Given the description of an element on the screen output the (x, y) to click on. 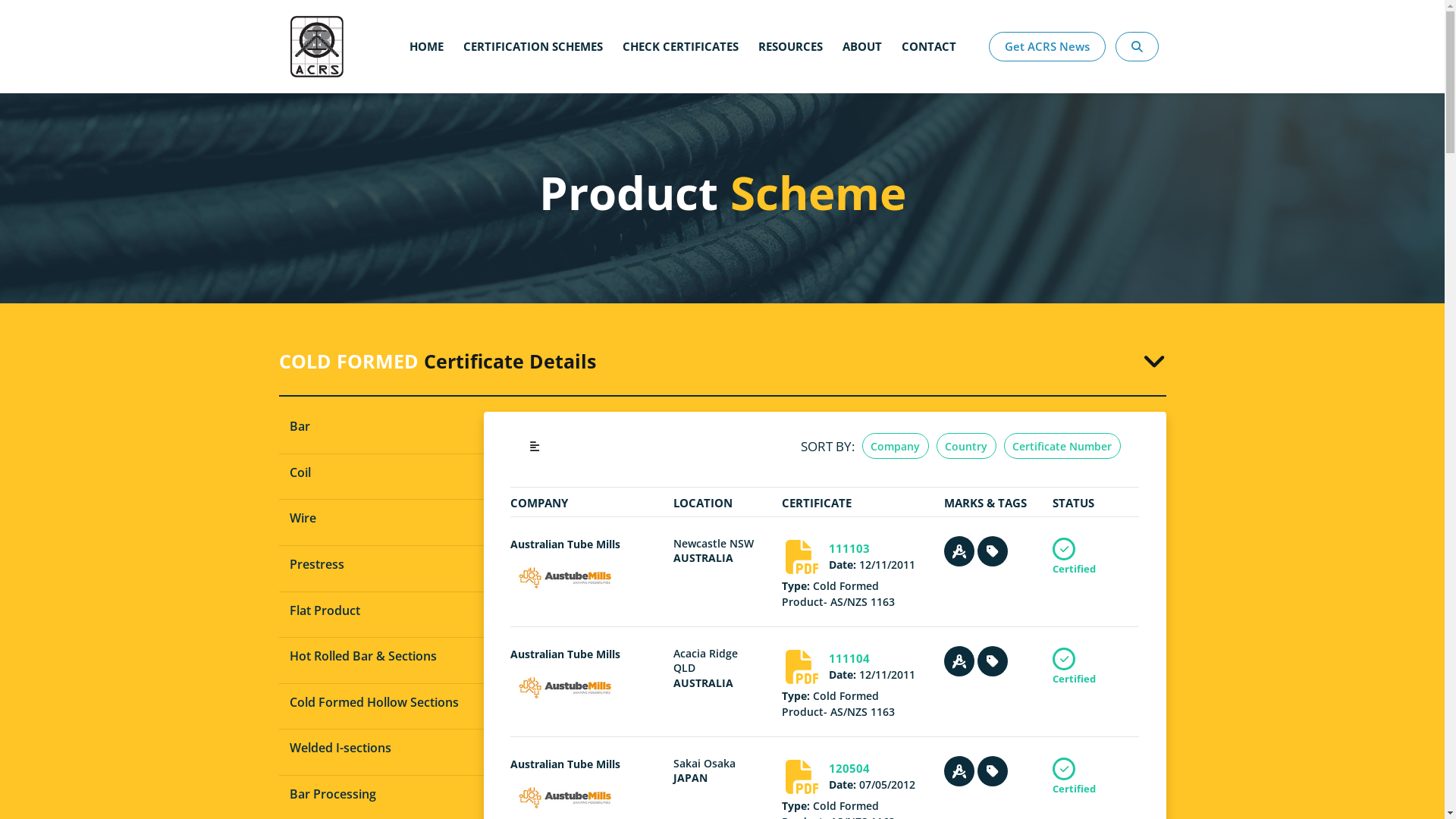
RESOURCES Element type: text (790, 45)
Country Element type: text (966, 445)
CONTACT Element type: text (928, 45)
CHECK CERTIFICATES Element type: text (680, 45)
111104 Element type: text (848, 657)
Coil Element type: text (381, 473)
Bar Processing Element type: text (381, 794)
COLD FORMED Certificate Details Element type: text (722, 360)
CERTIFICATION SCHEMES Element type: text (532, 45)
Company Element type: text (895, 445)
Get ACRS News Element type: text (1046, 46)
Welded I-sections Element type: text (381, 748)
120504 Element type: text (848, 767)
Flat Product Element type: text (381, 611)
111103 Element type: text (848, 547)
Cold Formed Hollow Sections Element type: text (381, 702)
Prestress Element type: text (381, 564)
Wire Element type: text (381, 518)
ABOUT Element type: text (861, 45)
HOME Element type: text (426, 45)
Bar Element type: text (381, 426)
Subscribe Element type: text (1122, 96)
Hot Rolled Bar & Sections Element type: text (381, 656)
Certificate Number Element type: text (1062, 445)
Certified Element type: text (1073, 555)
Certified Element type: text (1073, 665)
Certified Element type: text (1073, 775)
Search Element type: text (1141, 96)
